Given the description of an element on the screen output the (x, y) to click on. 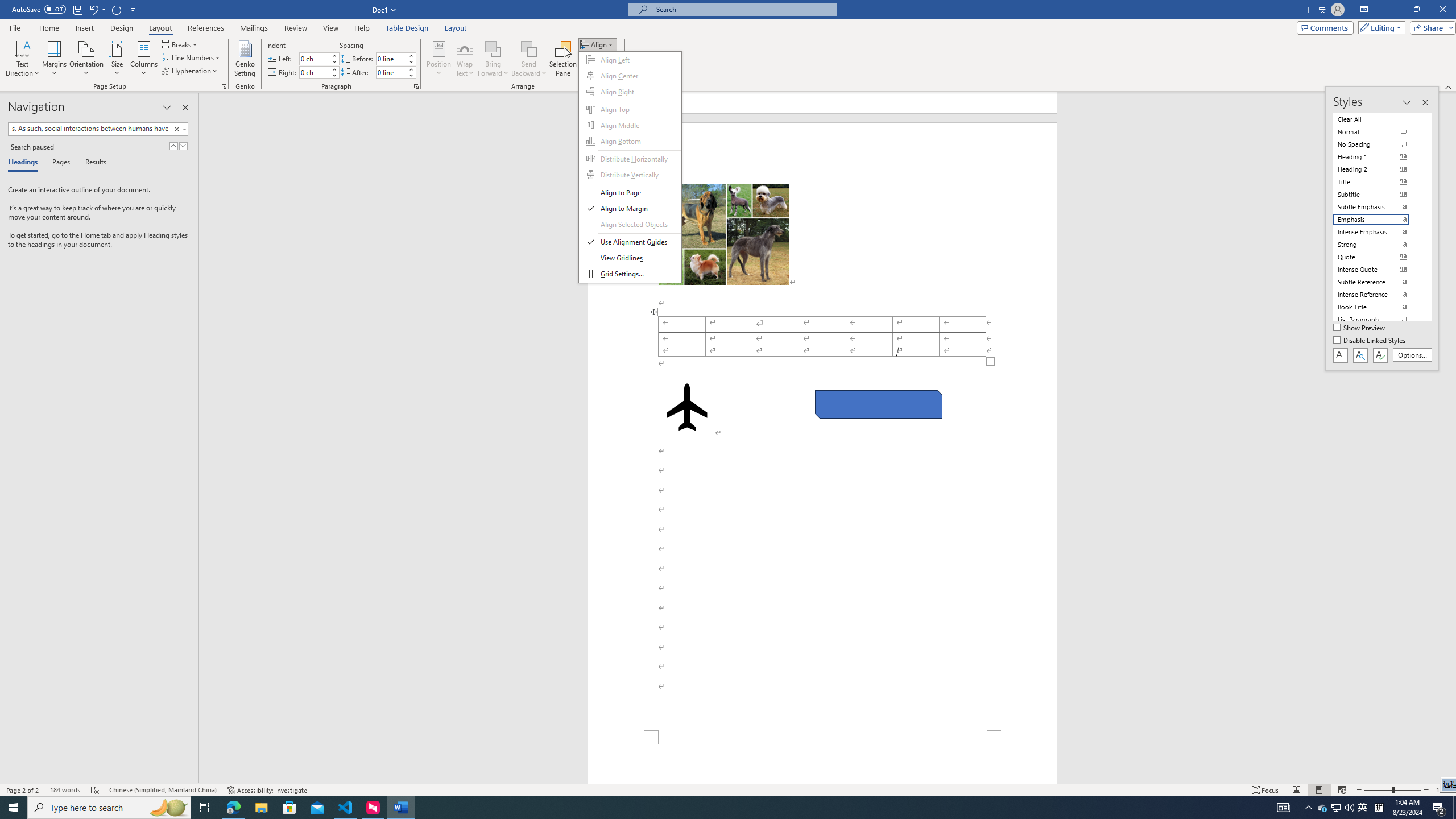
Repeat Style (117, 9)
Indent Left (314, 58)
List Paragraph (1377, 319)
Align (597, 44)
Subtle Reference (1377, 282)
Microsoft Edge - 1 running window (233, 807)
